Given the description of an element on the screen output the (x, y) to click on. 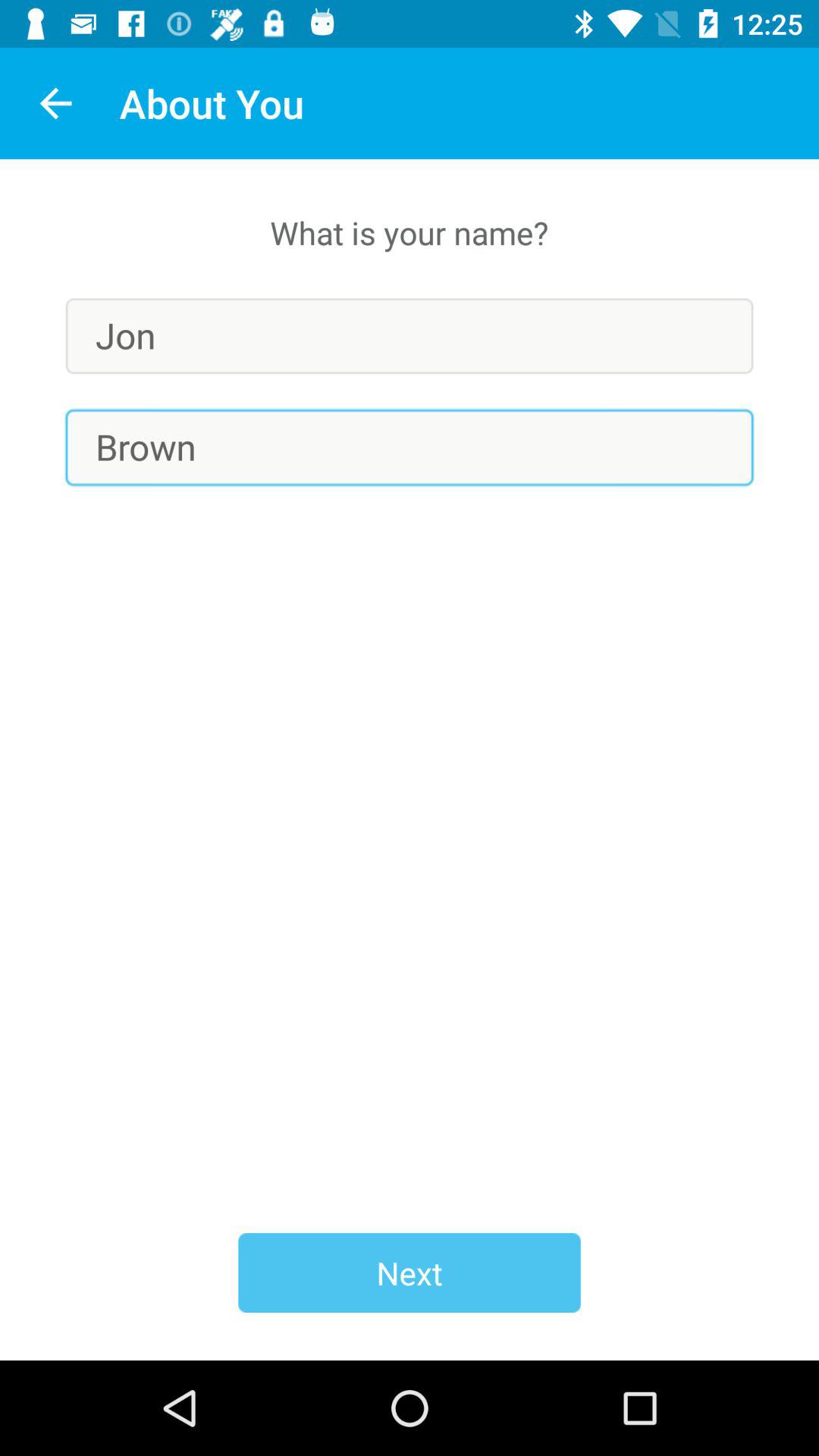
launch the jon (409, 335)
